Given the description of an element on the screen output the (x, y) to click on. 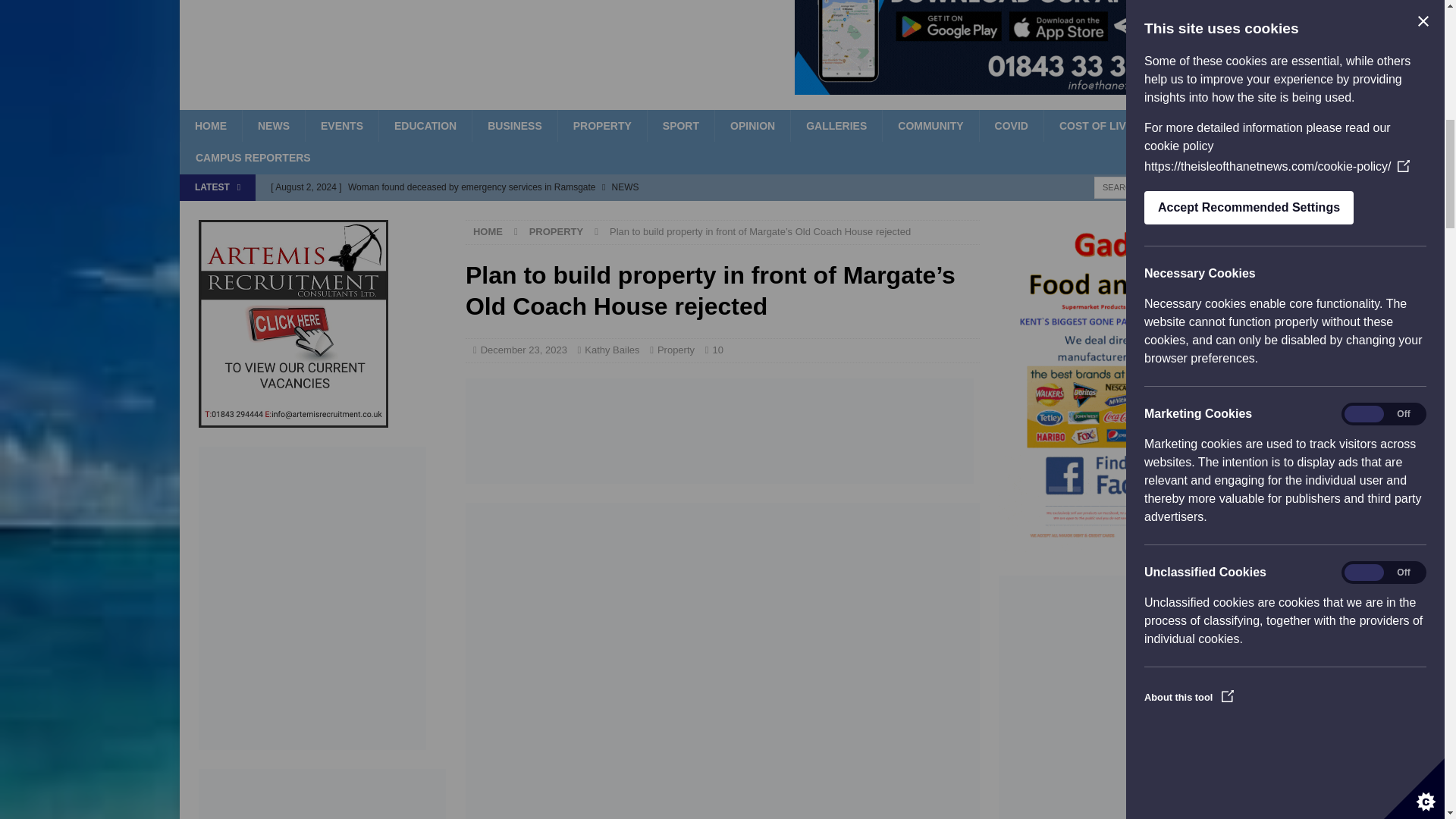
Woman found deceased by emergency services in Ramsgate (574, 186)
10 (716, 349)
